Given the description of an element on the screen output the (x, y) to click on. 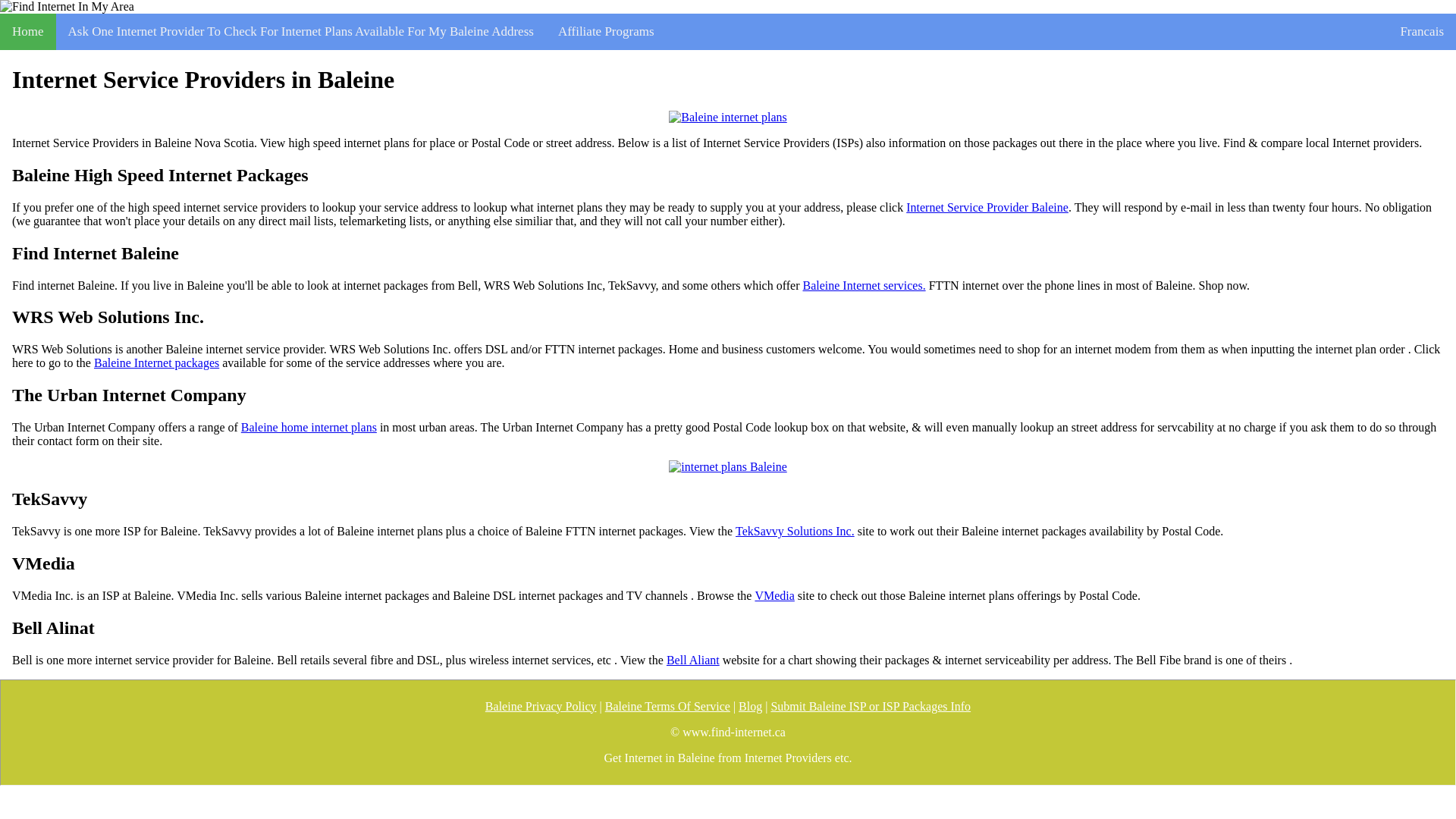
Home (28, 31)
VMedia (773, 595)
Submit Baleine ISP or ISP Packages Info (870, 706)
Affiliate Programs (606, 31)
Baleine Internet services. (863, 285)
Baleine Terms Of Service (667, 706)
Blog (749, 706)
Baleine Privacy Policy (540, 706)
TekSavvy Solutions Inc. (794, 531)
Baleine Internet packages (156, 363)
Baleine home internet plans (309, 427)
Bell Aliant (692, 660)
Internet Service Provider Baleine (986, 207)
